Given the description of an element on the screen output the (x, y) to click on. 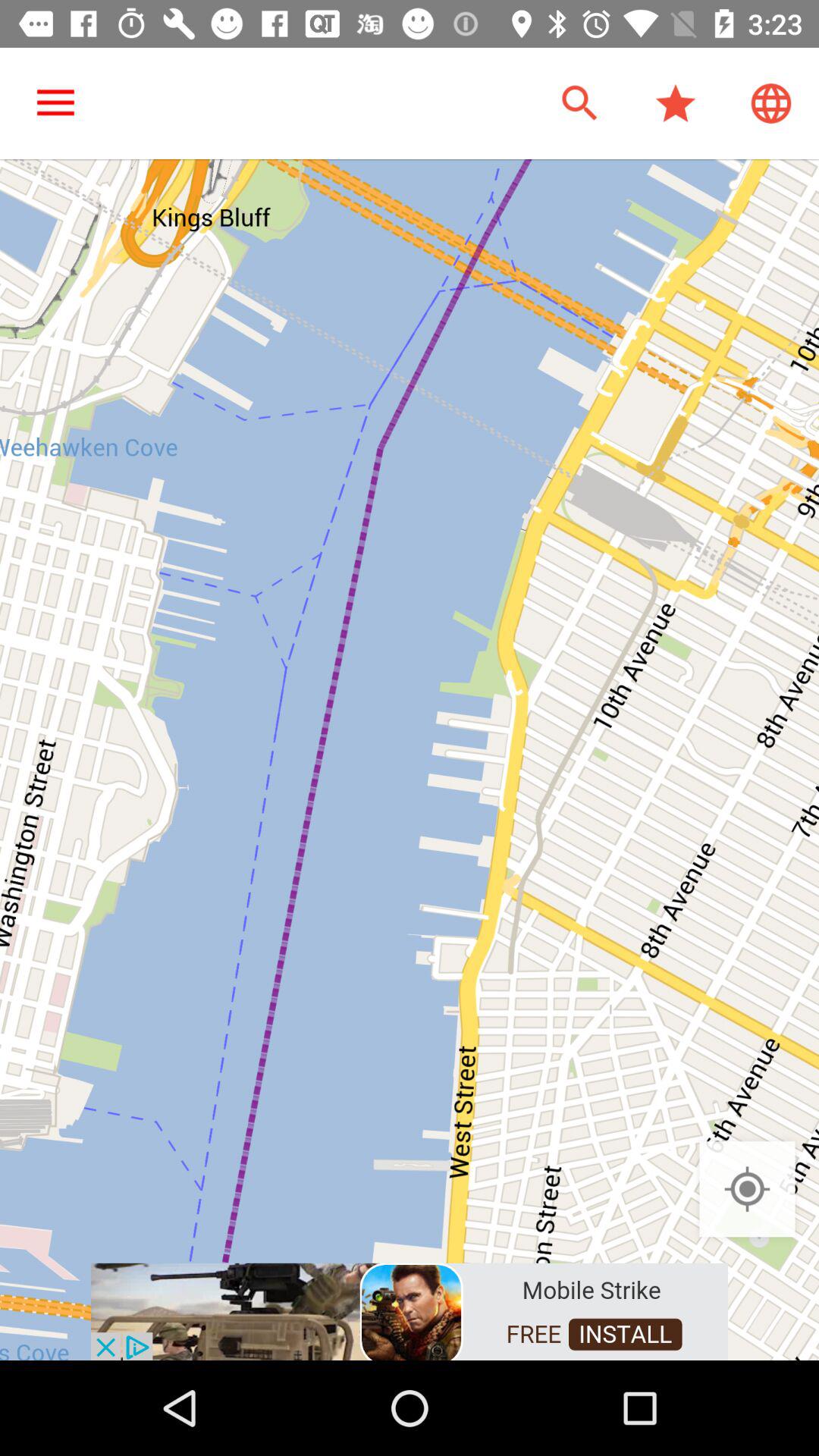
share the article (409, 1310)
